Given the description of an element on the screen output the (x, y) to click on. 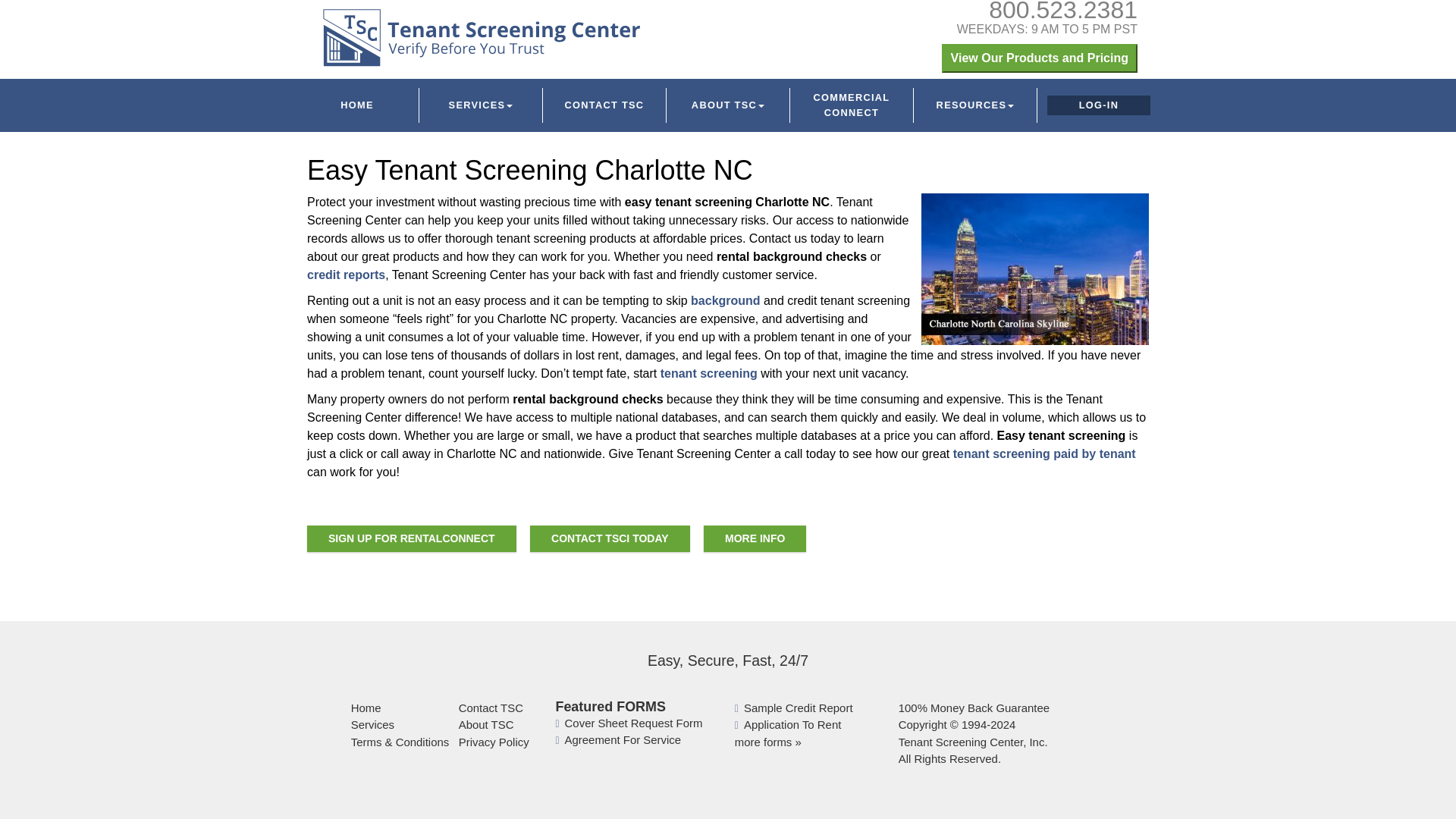
SERVICES (480, 105)
Tenant Screening Paid by Tenant Charlotte NC (1044, 453)
HOME (357, 105)
Tenant Screening (709, 373)
View Our Products and Pricing (1039, 57)
Renter Credit Check (346, 274)
RESOURCES (974, 105)
LOG-IN (1098, 105)
CONTACT TSC (604, 105)
COMMERCIAL CONNECT (850, 104)
Rental Background Checks (725, 300)
View Our Products and Pricing (1039, 58)
ABOUT TSC (727, 105)
Easy Tenant Screening Charlotte NC (1034, 268)
